Given the description of an element on the screen output the (x, y) to click on. 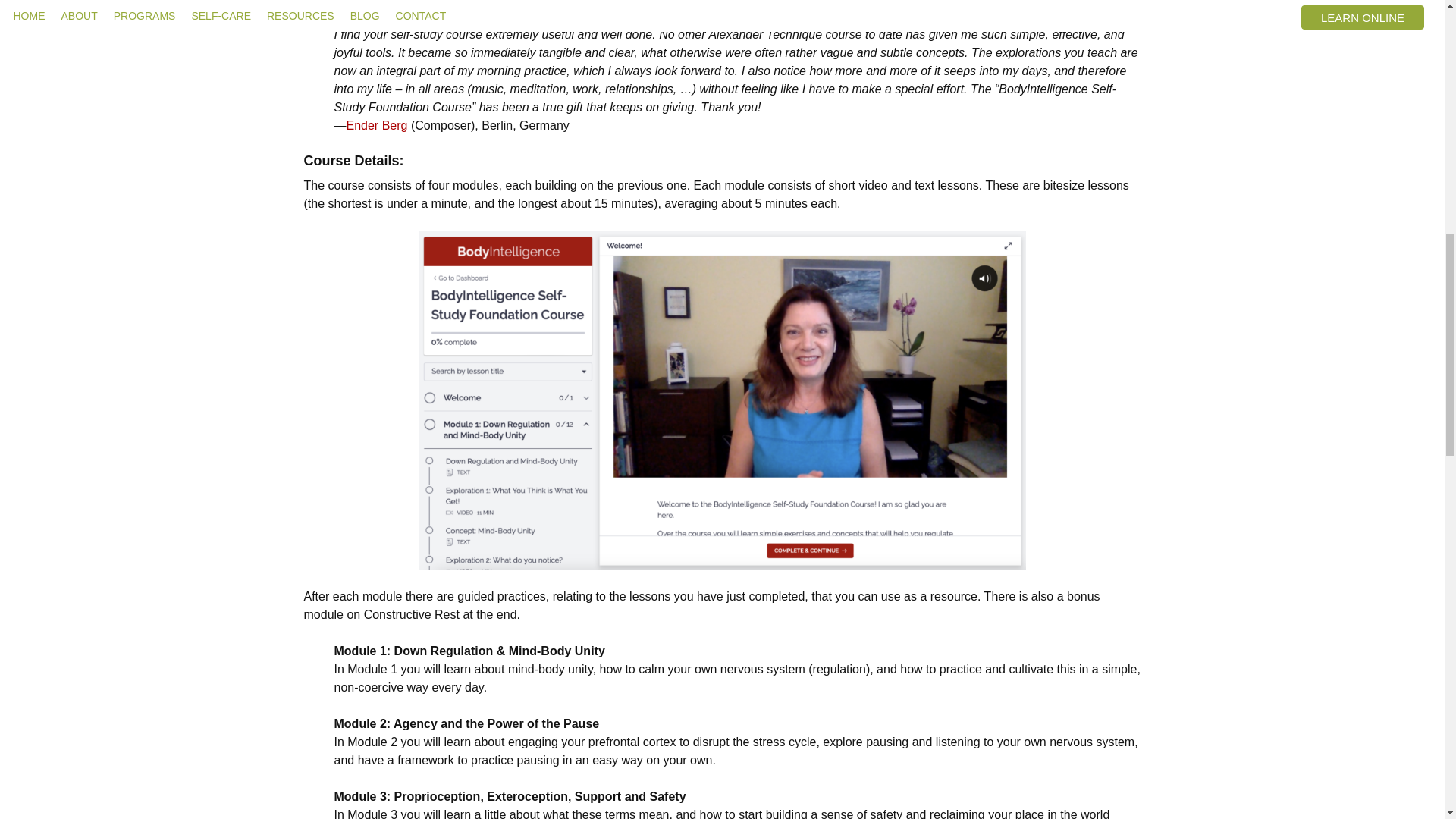
Ender Berg (376, 124)
